Given the description of an element on the screen output the (x, y) to click on. 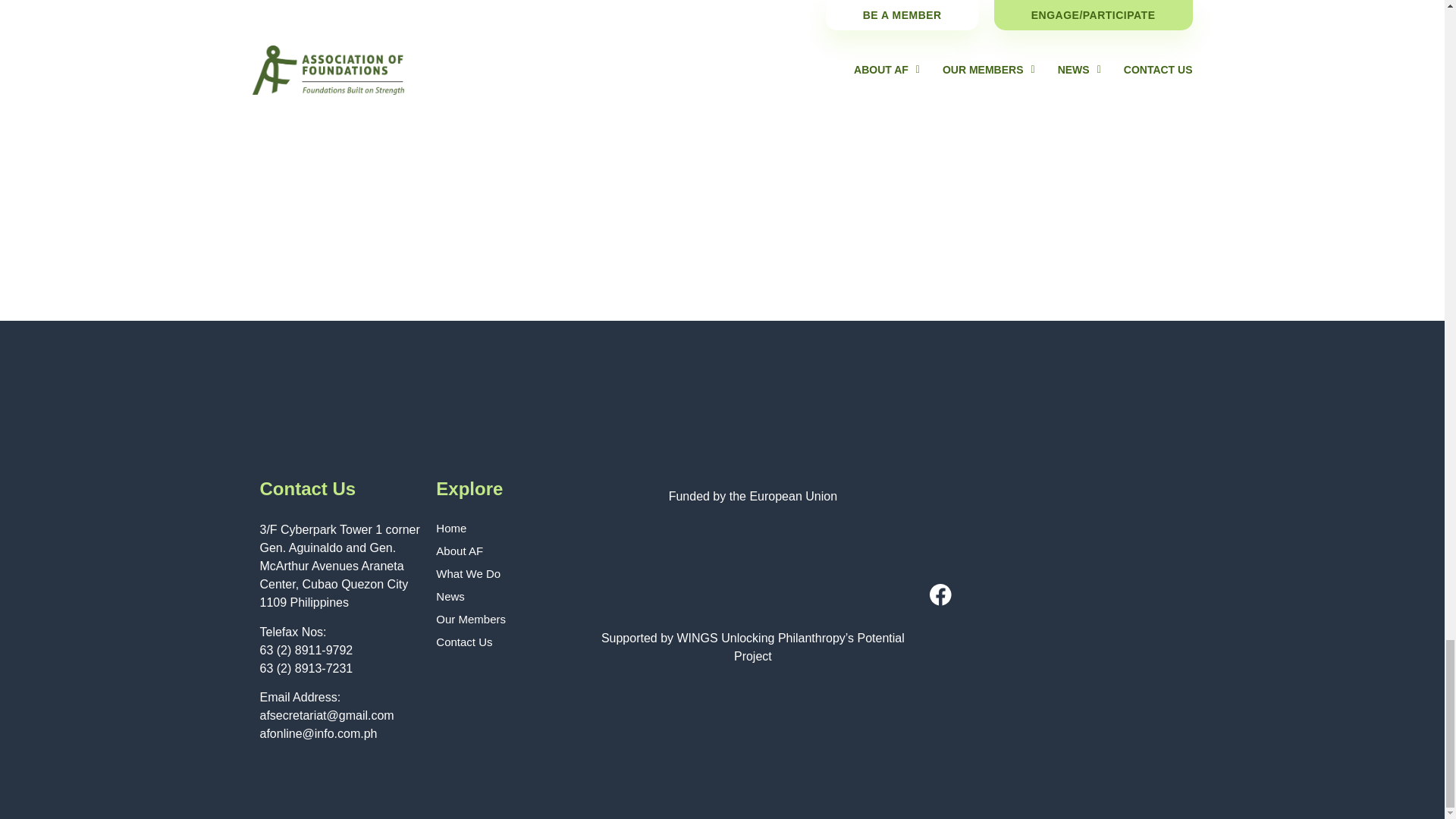
News (505, 596)
About AF (505, 550)
Home (505, 528)
What We Do (505, 573)
Our Members (505, 619)
